Given the description of an element on the screen output the (x, y) to click on. 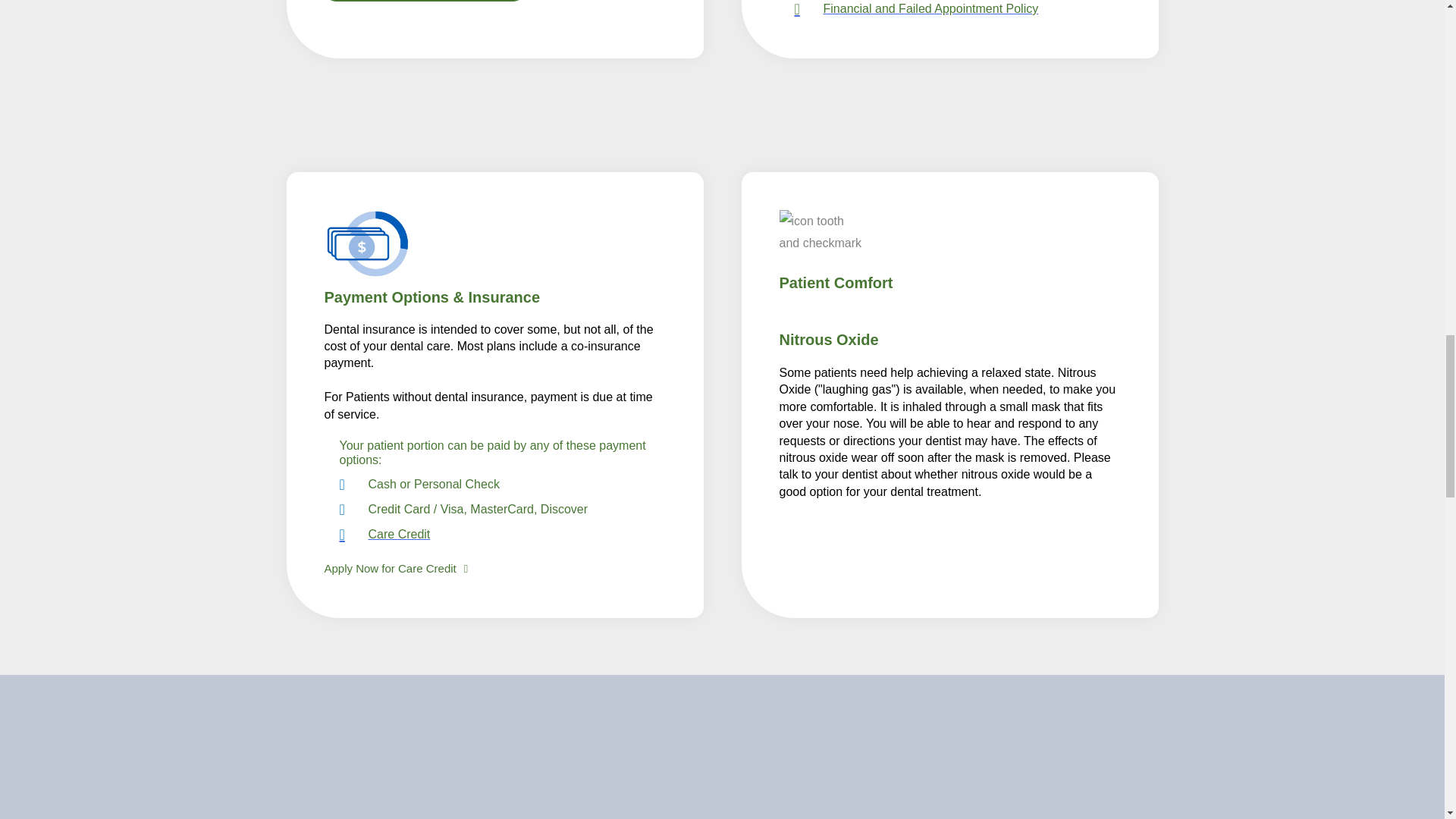
Apply Now for Care Credit (396, 568)
Care Credit (502, 534)
Financial and Failed Appointment Policy (957, 10)
